Given the description of an element on the screen output the (x, y) to click on. 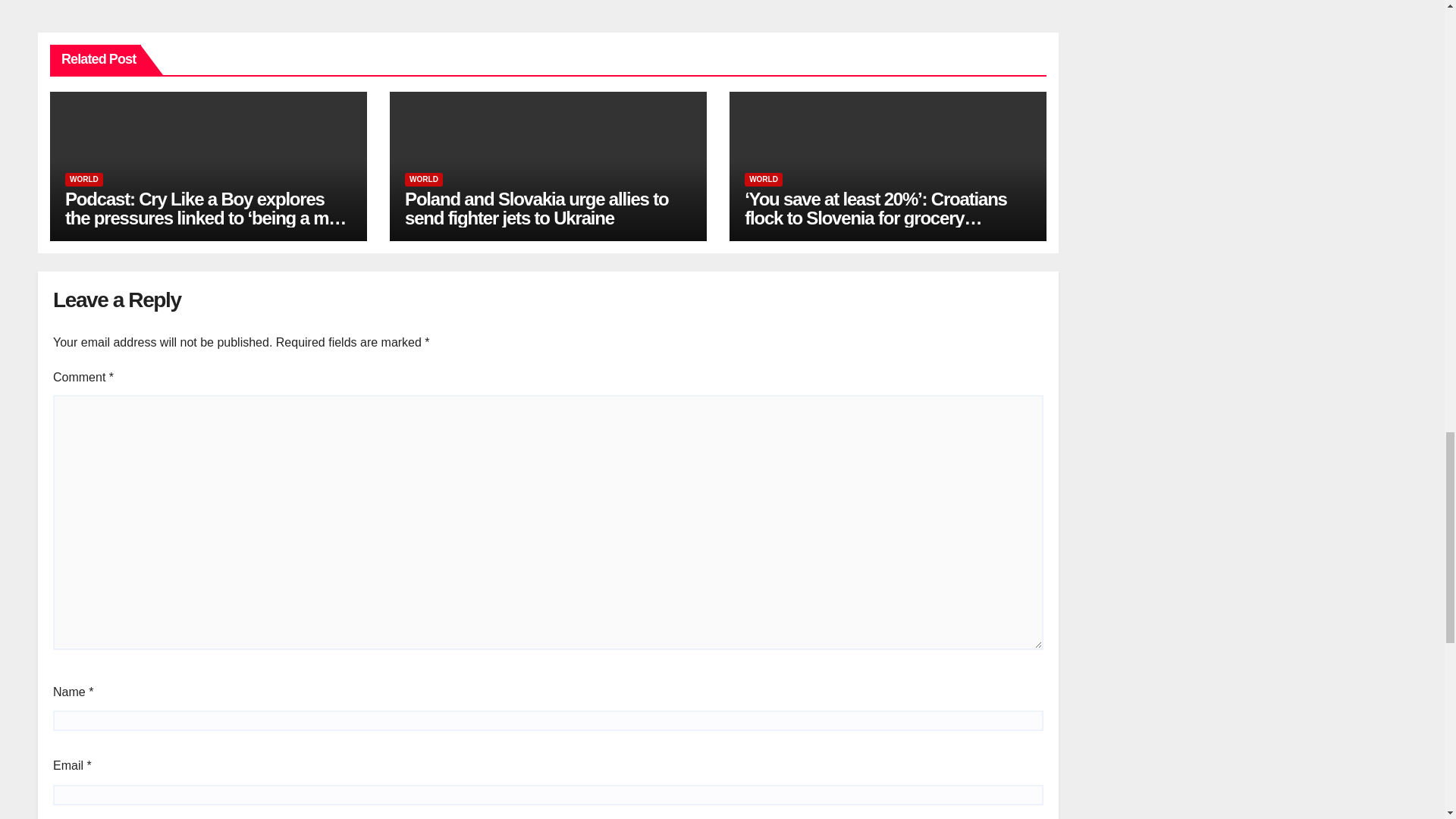
WORLD (84, 179)
WORLD (763, 179)
WORLD (423, 179)
